Given the description of an element on the screen output the (x, y) to click on. 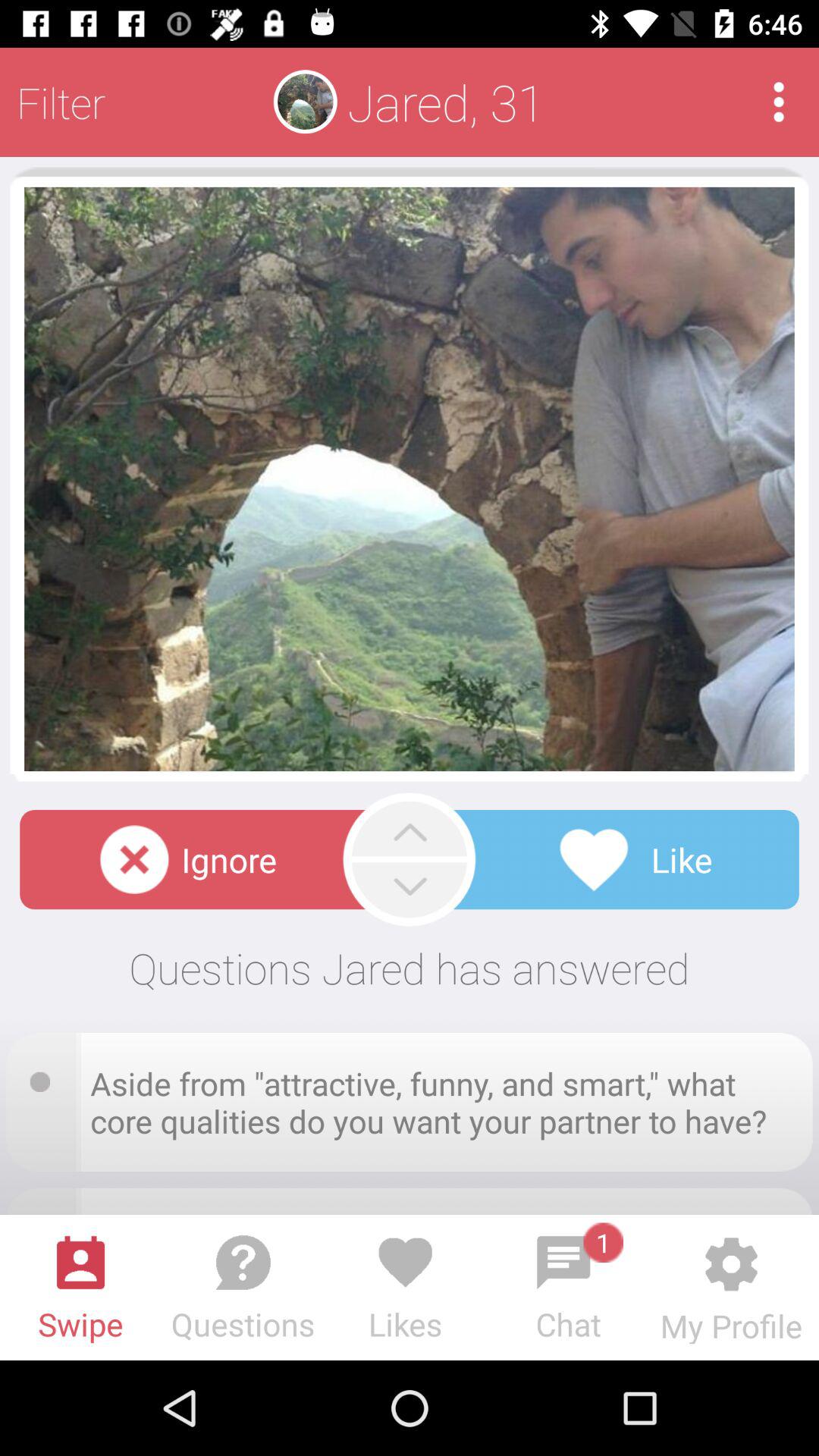
launch the jared, 31 (445, 101)
